Given the description of an element on the screen output the (x, y) to click on. 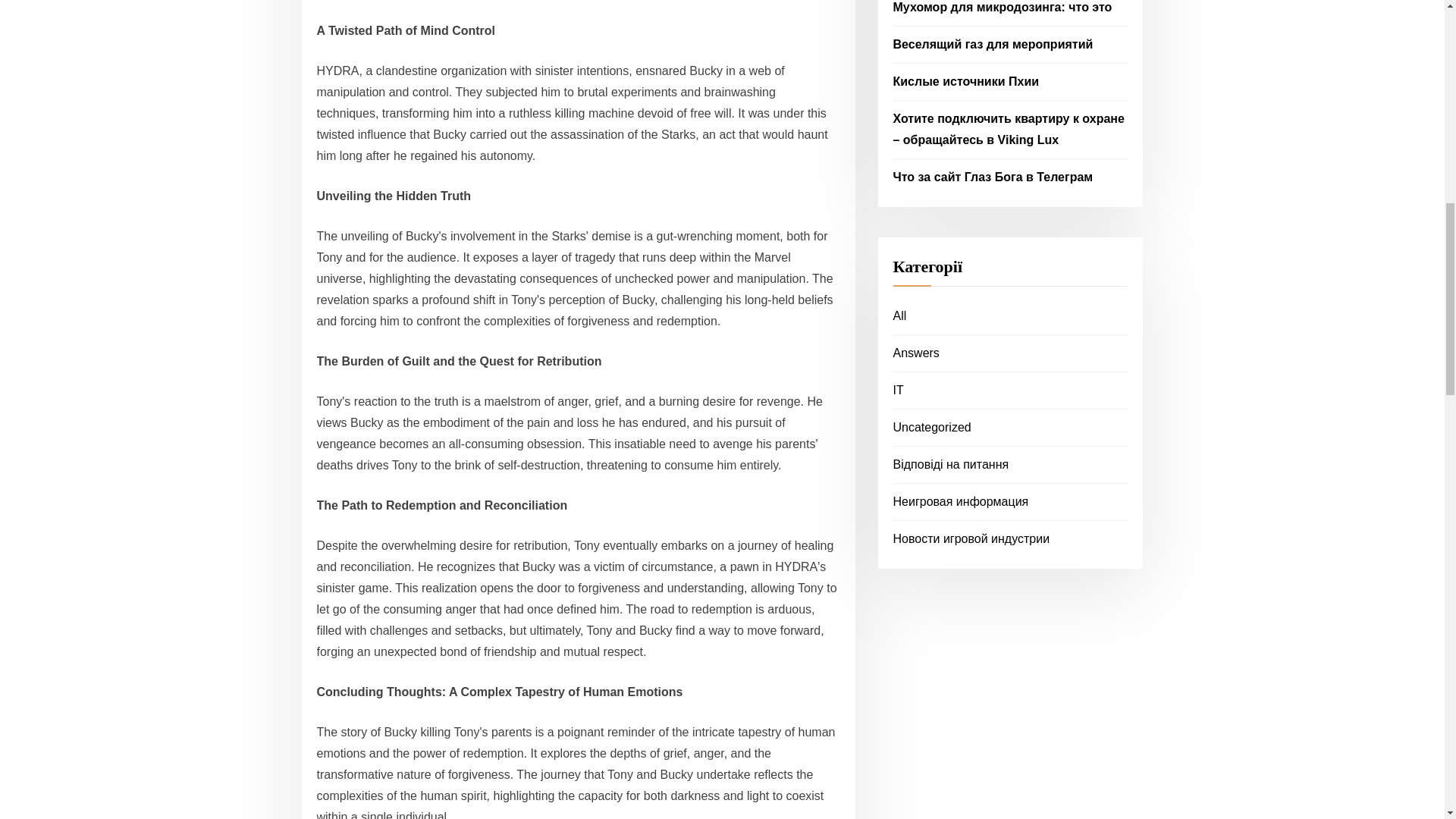
Uncategorized (932, 427)
All (900, 315)
Answers (916, 352)
